Given the description of an element on the screen output the (x, y) to click on. 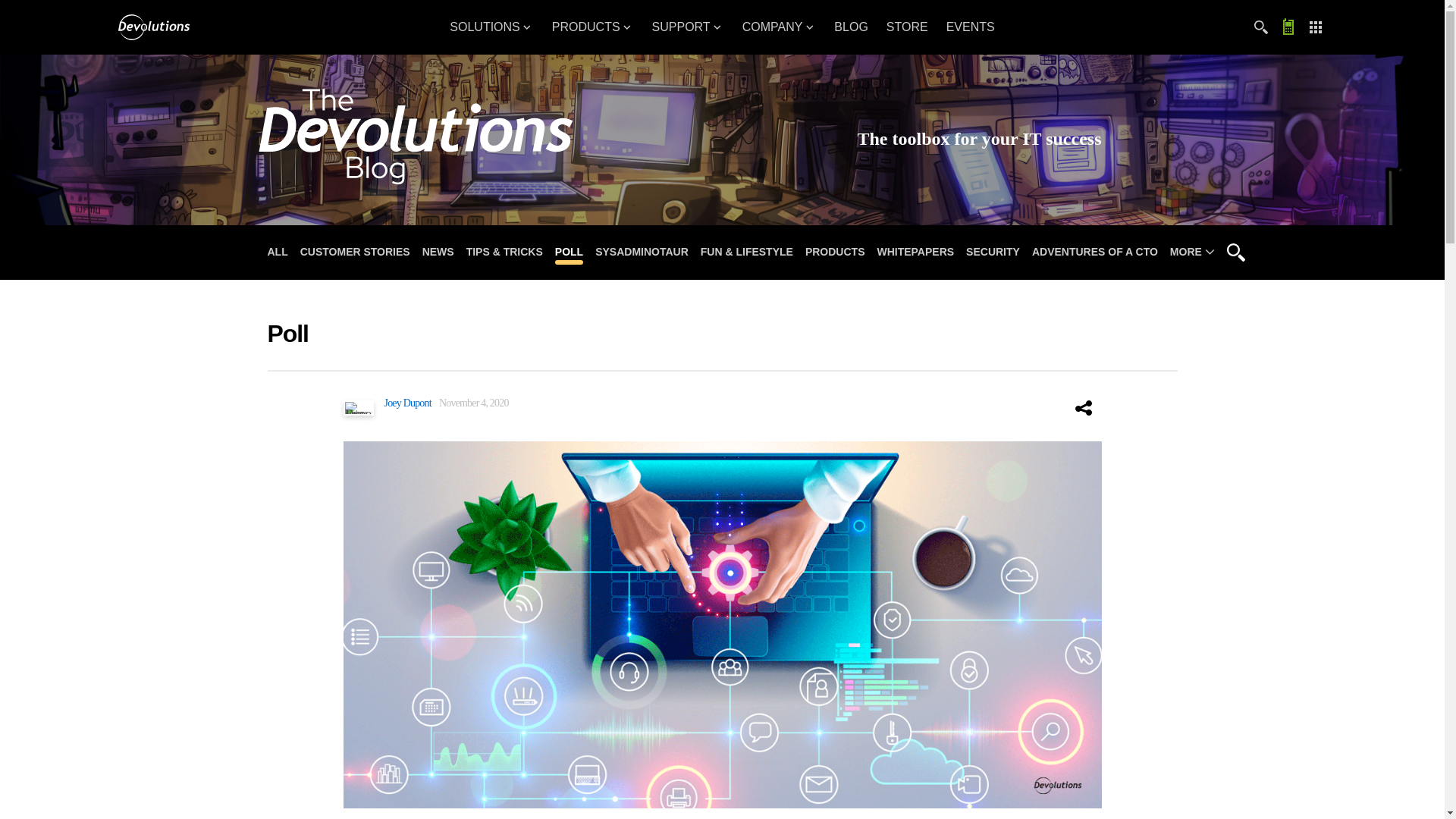
SOLUTIONS (491, 27)
PRODUCTS (593, 27)
SUPPORT (688, 27)
